Given the description of an element on the screen output the (x, y) to click on. 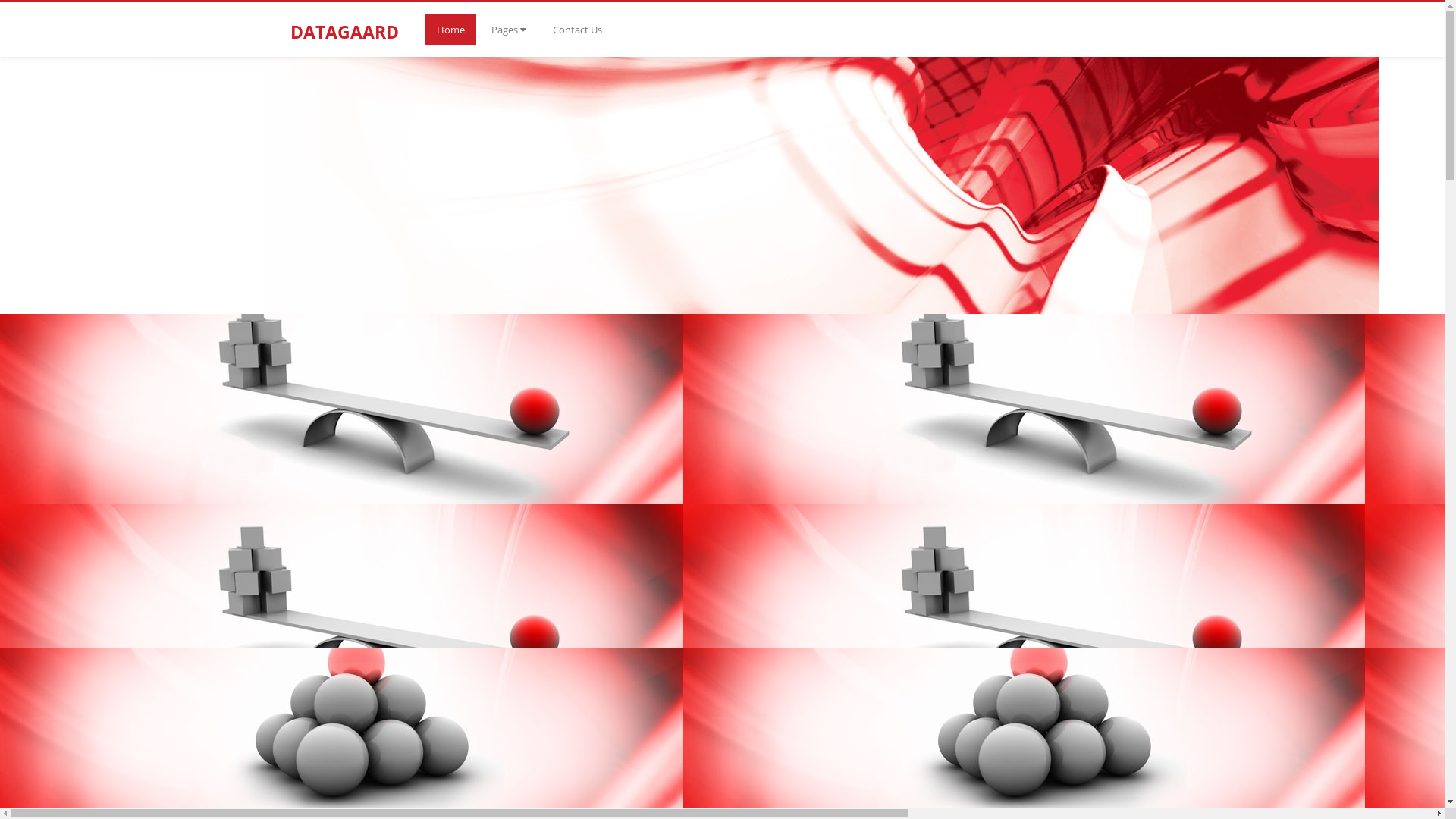
Home Element type: text (449, 29)
DATAGAARD Element type: text (352, 20)
Contact Us Element type: text (577, 29)
Pages Element type: text (507, 29)
